Given the description of an element on the screen output the (x, y) to click on. 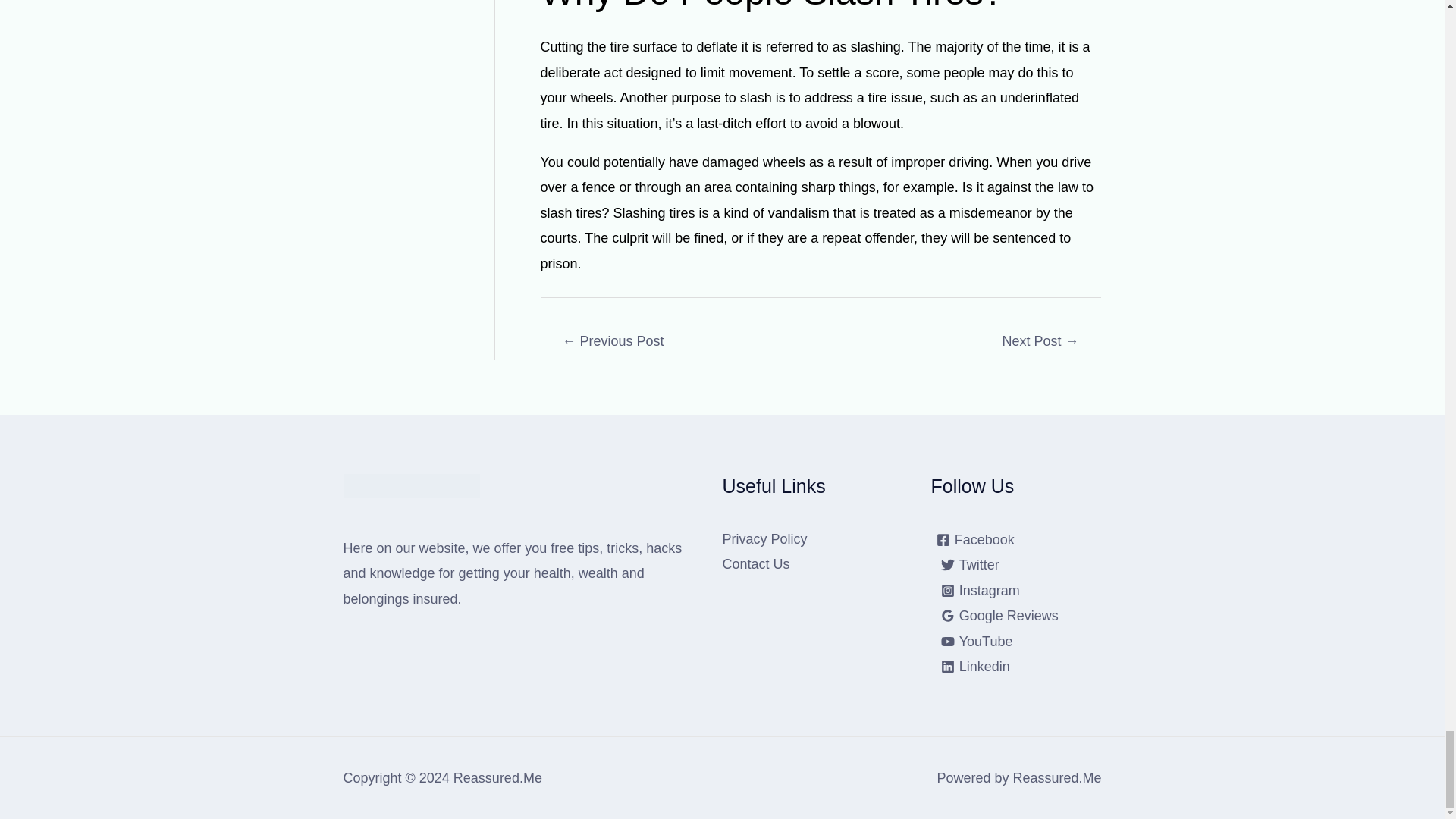
YouTube (976, 641)
Instagram (980, 590)
Google Reviews (1000, 615)
Linkedin (975, 666)
Contact Us (755, 563)
Privacy Policy (764, 539)
Twitter (970, 564)
What Does Edgars Dental Insurance Cover? (612, 342)
Do I Need Insurance To Sell Cakes From Home? (1040, 342)
Facebook (975, 540)
